Given the description of an element on the screen output the (x, y) to click on. 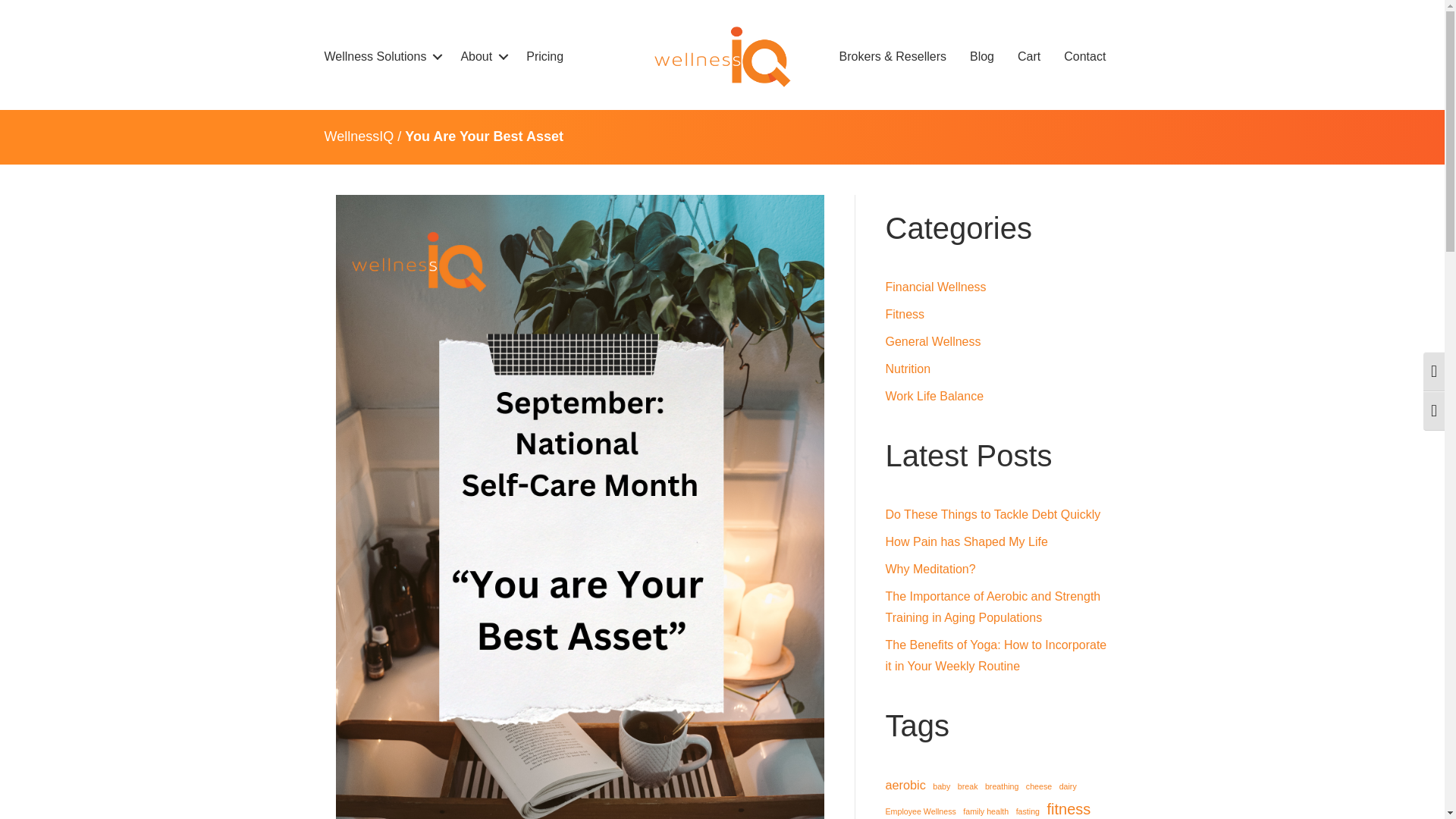
Wellness Solutions (380, 56)
Cart (1028, 56)
Pricing (545, 56)
About (480, 56)
Blog (982, 56)
Contact (1084, 56)
